Given the description of an element on the screen output the (x, y) to click on. 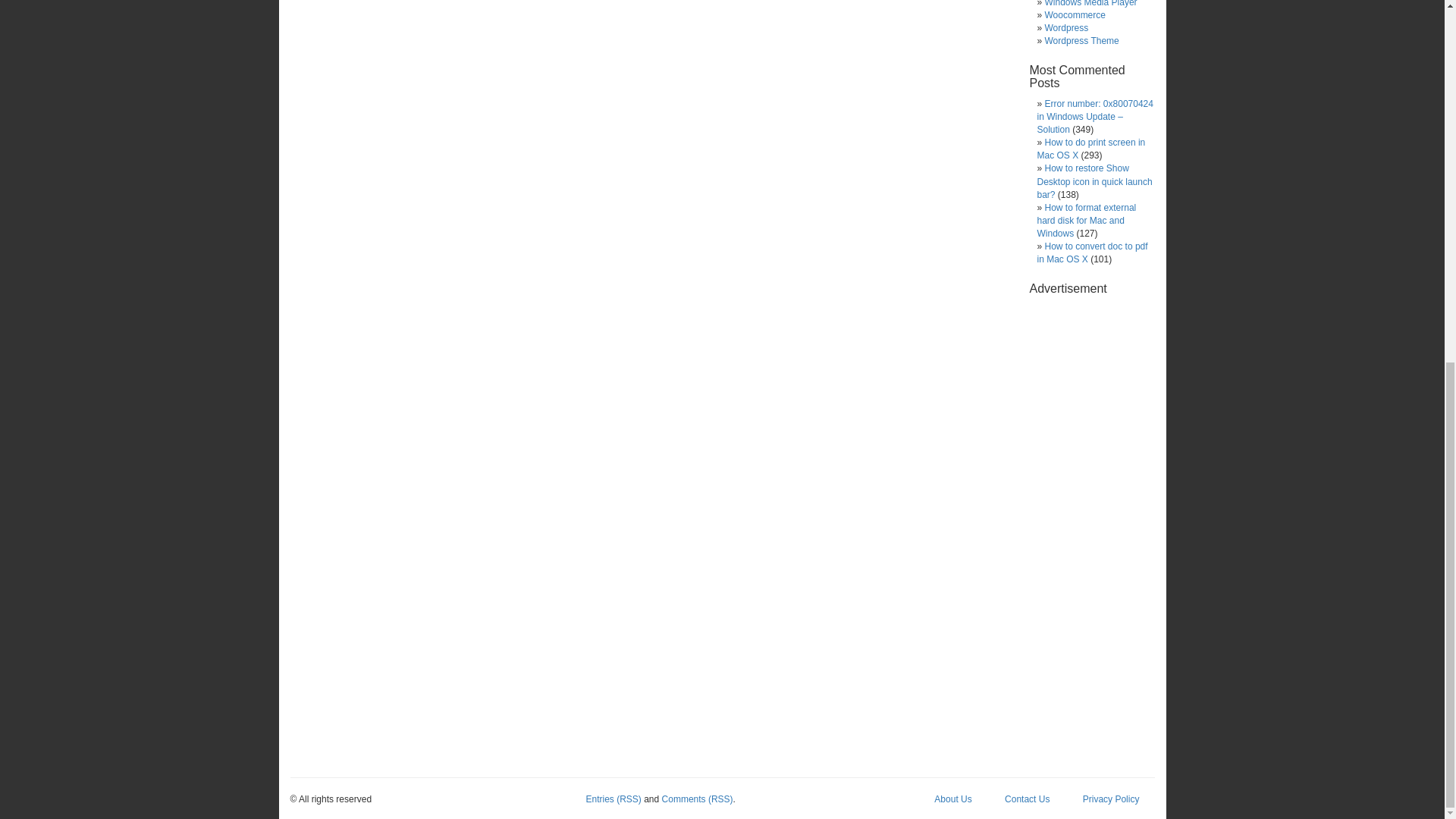
How to do print screen in Mac OS X (1090, 148)
How to convert doc to pdf in Mac OS X (1091, 252)
How to restore Show Desktop icon in quick launch bar? (1093, 180)
Windows Media Player (1091, 3)
How to format external hard disk for Mac and Windows (1085, 220)
